Given the description of an element on the screen output the (x, y) to click on. 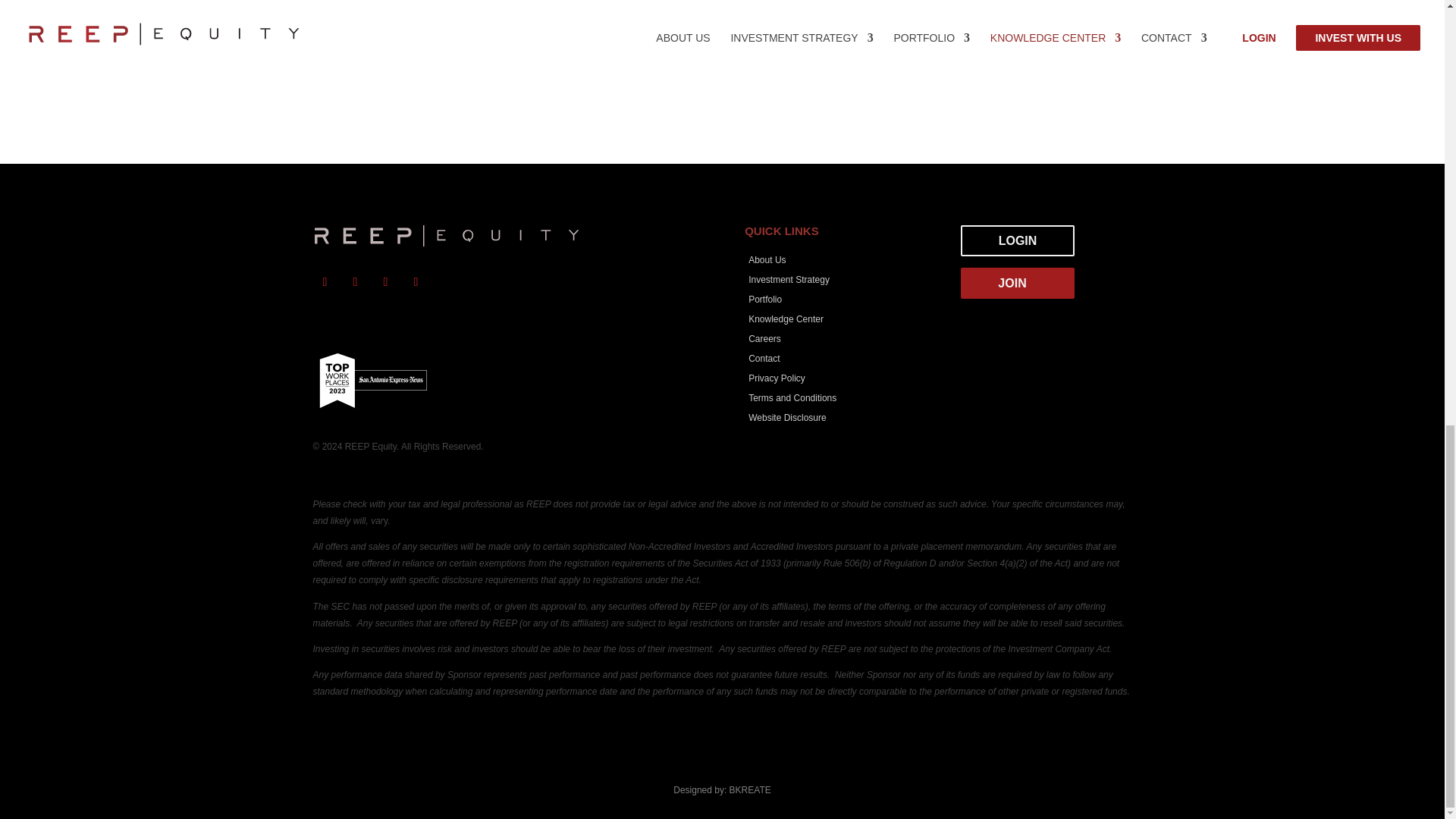
Follow on Facebook (324, 282)
Follow on LinkedIn (354, 282)
Follow on Youtube (415, 282)
Follow on Instagram (384, 282)
